Given the description of an element on the screen output the (x, y) to click on. 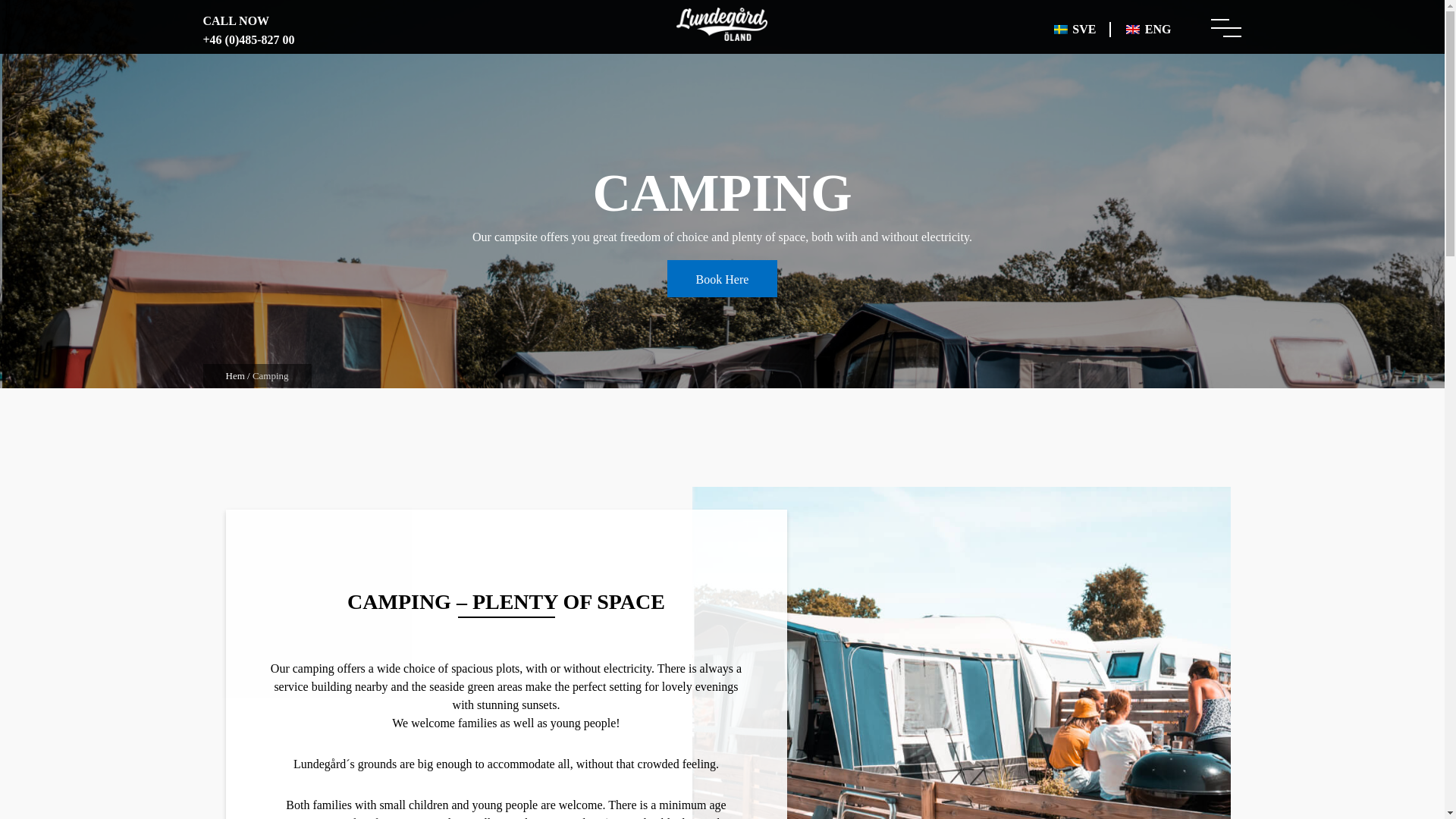
SVE (1075, 28)
Hem (234, 375)
ENG (1148, 28)
Book Here (721, 278)
